Given the description of an element on the screen output the (x, y) to click on. 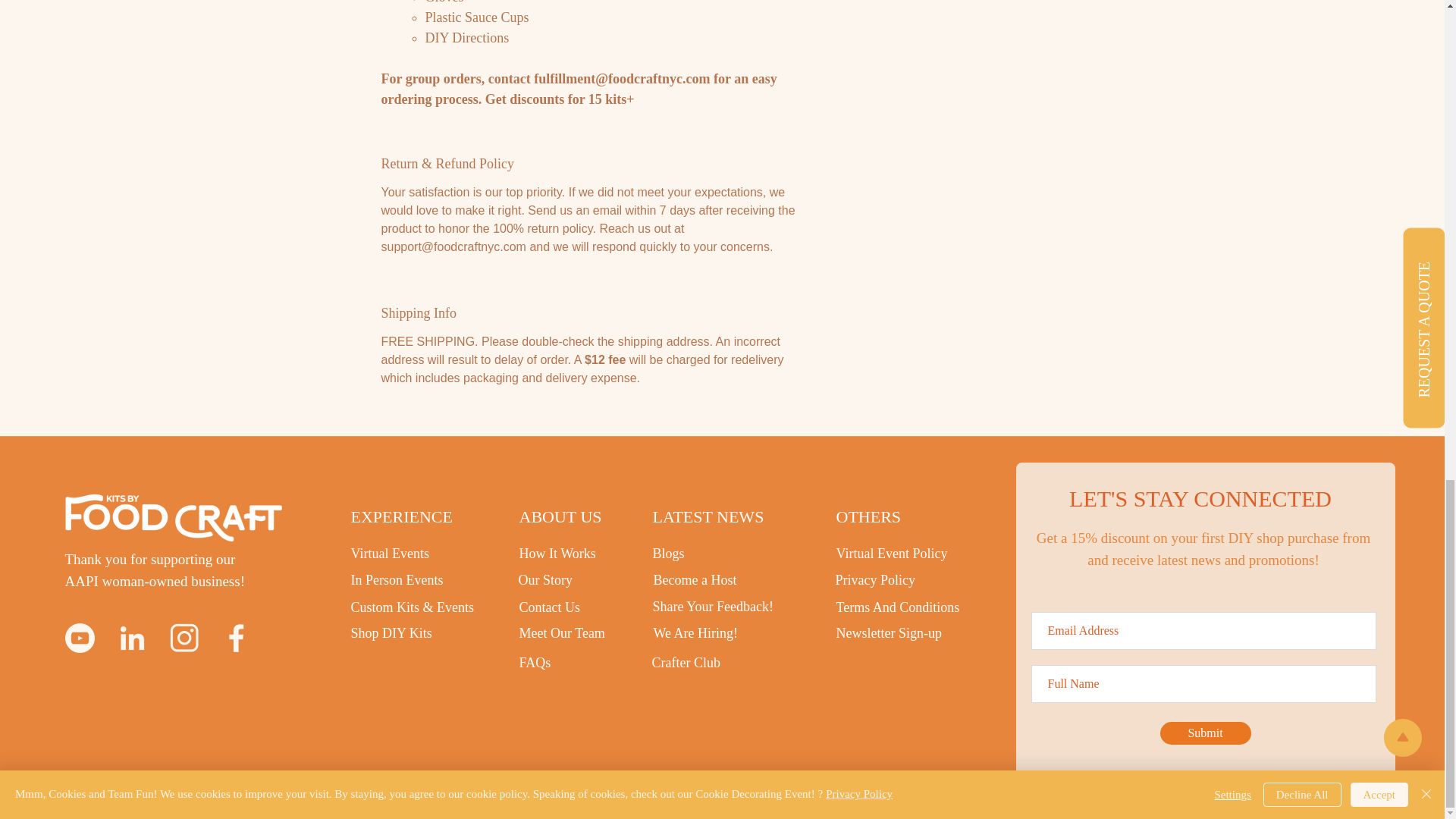
How It Works (556, 553)
Meet Our Team (561, 632)
In Person Events (396, 580)
Contact Us (548, 607)
Our Story (545, 580)
Virtual Events (389, 553)
FAQs (534, 662)
Become a Host (694, 580)
Blogs (668, 553)
Shop DIY Kits (390, 632)
